Given the description of an element on the screen output the (x, y) to click on. 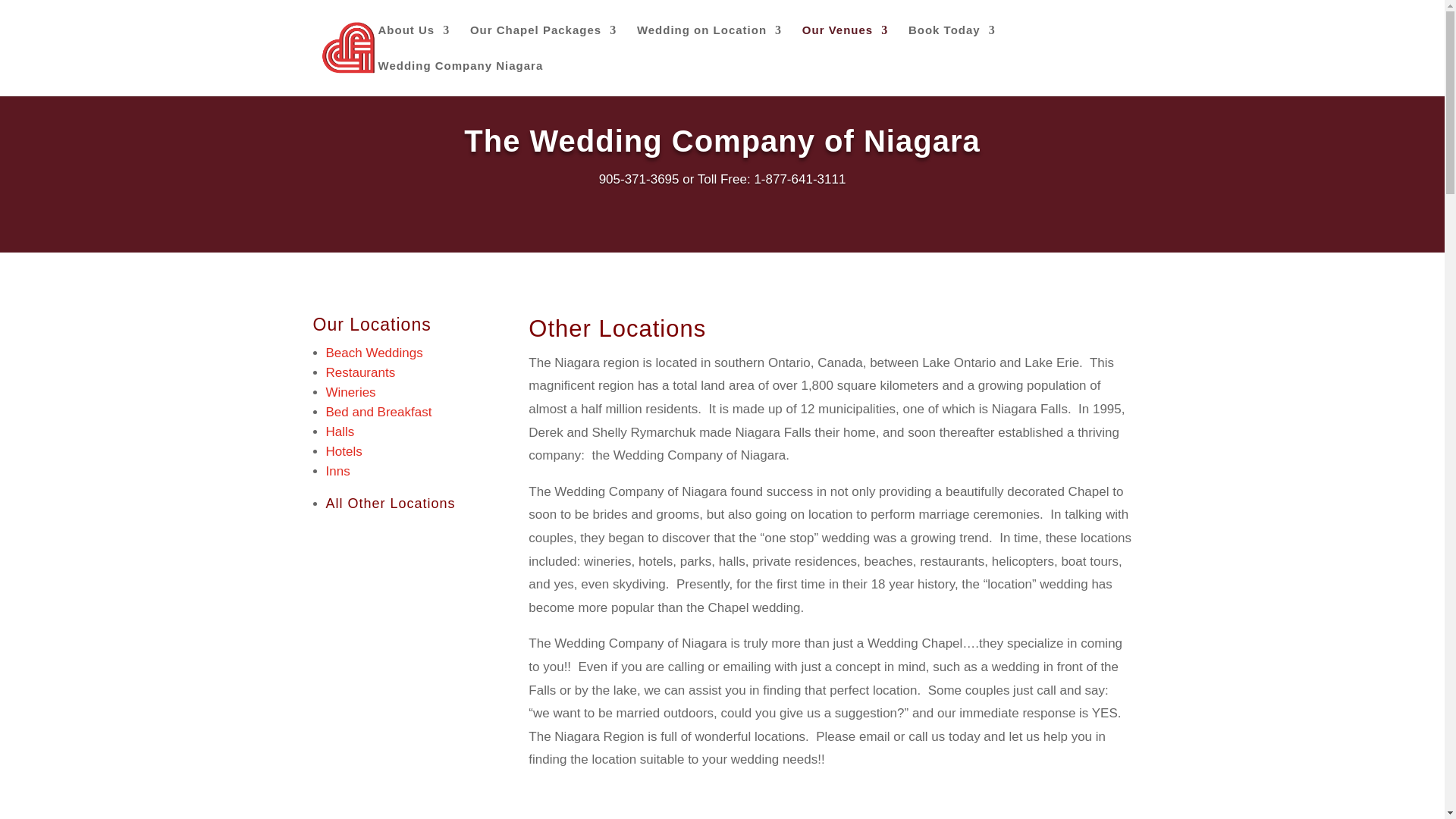
Our Venues (845, 42)
Wedding Company Niagara (460, 78)
Our Chapel Packages (542, 42)
About Us (413, 42)
Book Today (951, 42)
Wedding on Location (709, 42)
